Given the description of an element on the screen output the (x, y) to click on. 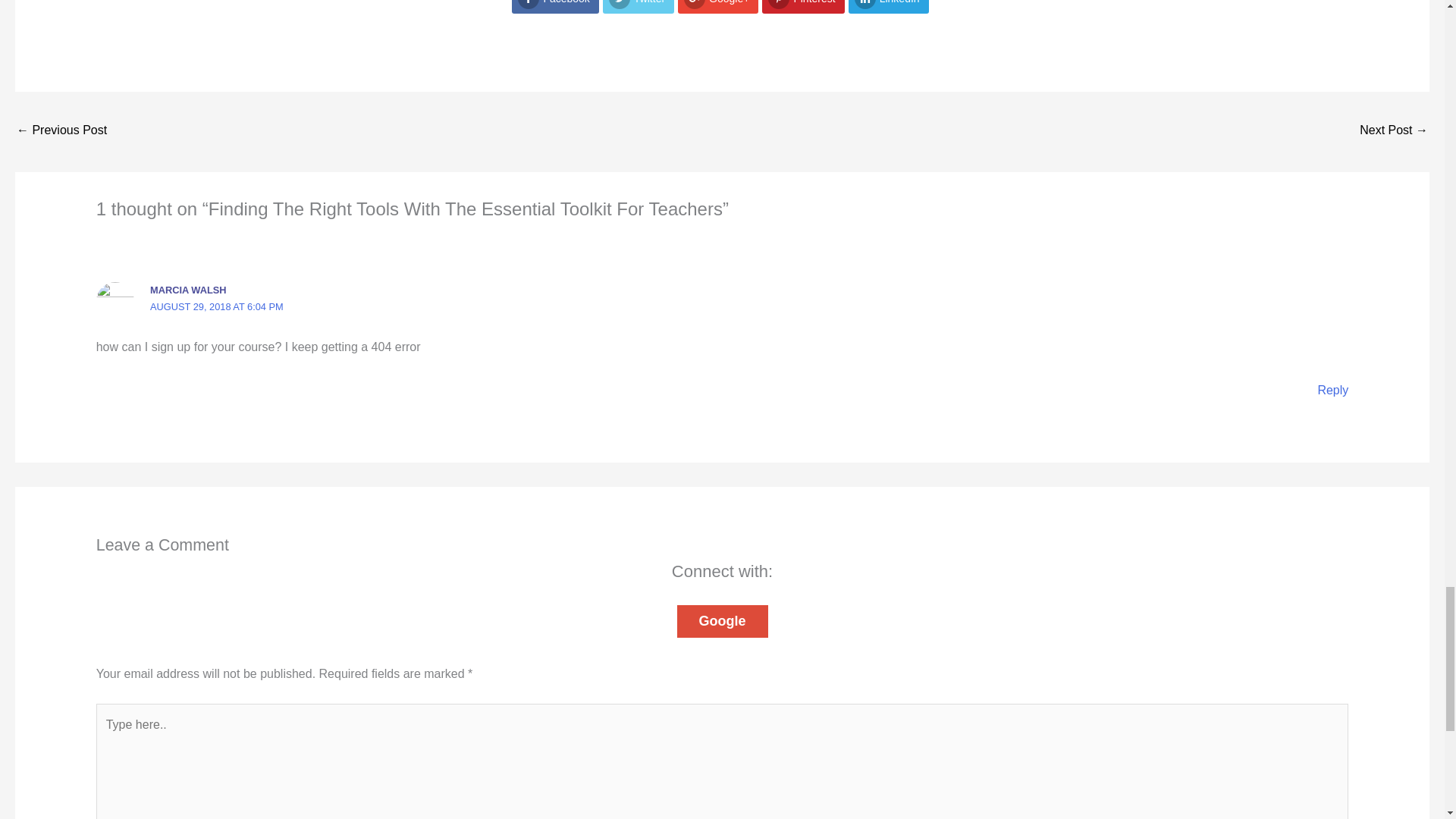
LinkedIn (888, 6)
Google (722, 621)
Twitter (638, 6)
Pinterest (802, 6)
Connect with Google (722, 621)
AUGUST 29, 2018 AT 6:04 PM (216, 306)
Reply (1332, 390)
Facebook (555, 6)
